Given the description of an element on the screen output the (x, y) to click on. 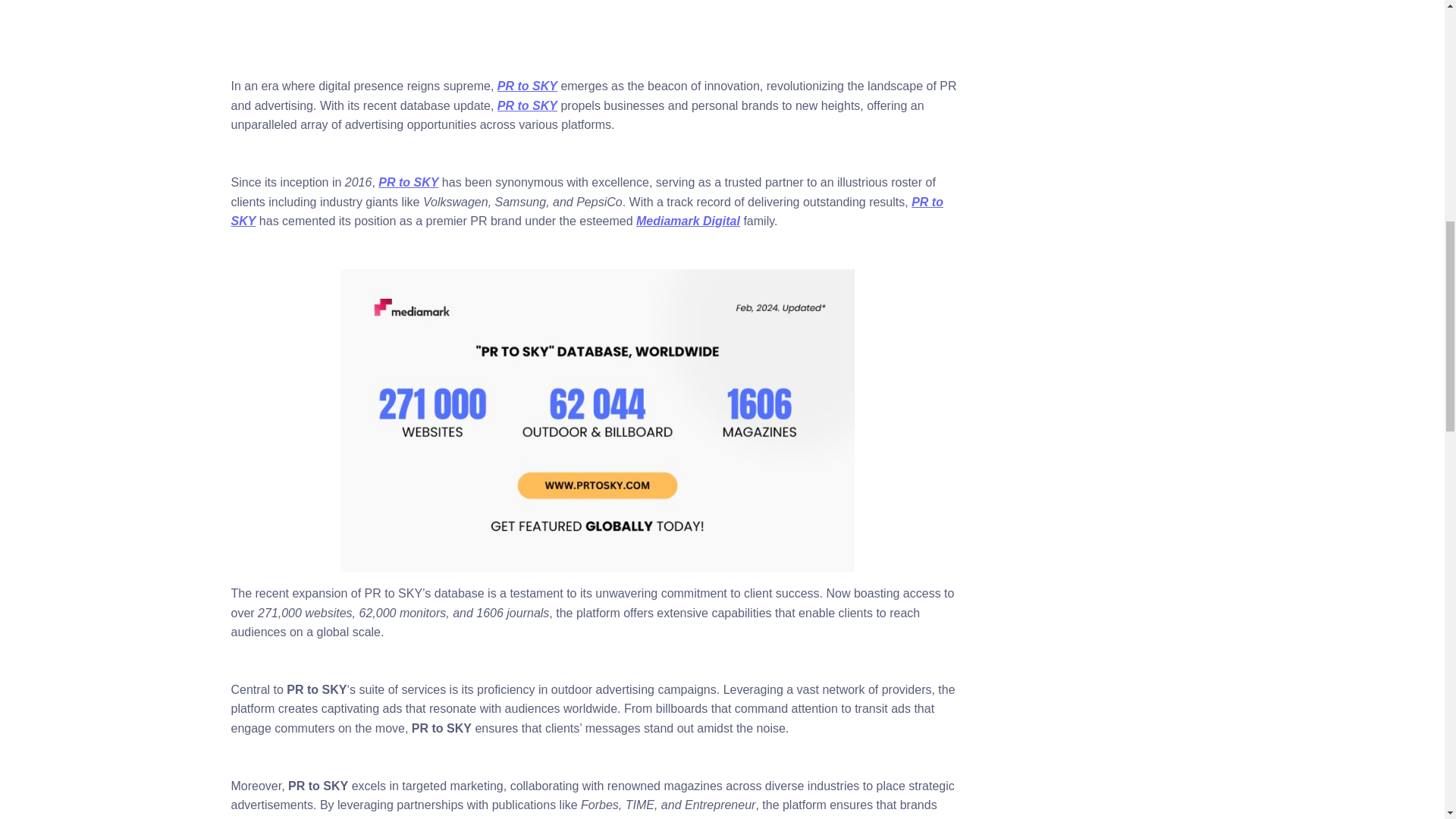
PR to SKY (527, 105)
PR to SKY (586, 211)
Mediamark Digital (687, 220)
PR to SKY (408, 182)
PR to SKY (527, 85)
